Given the description of an element on the screen output the (x, y) to click on. 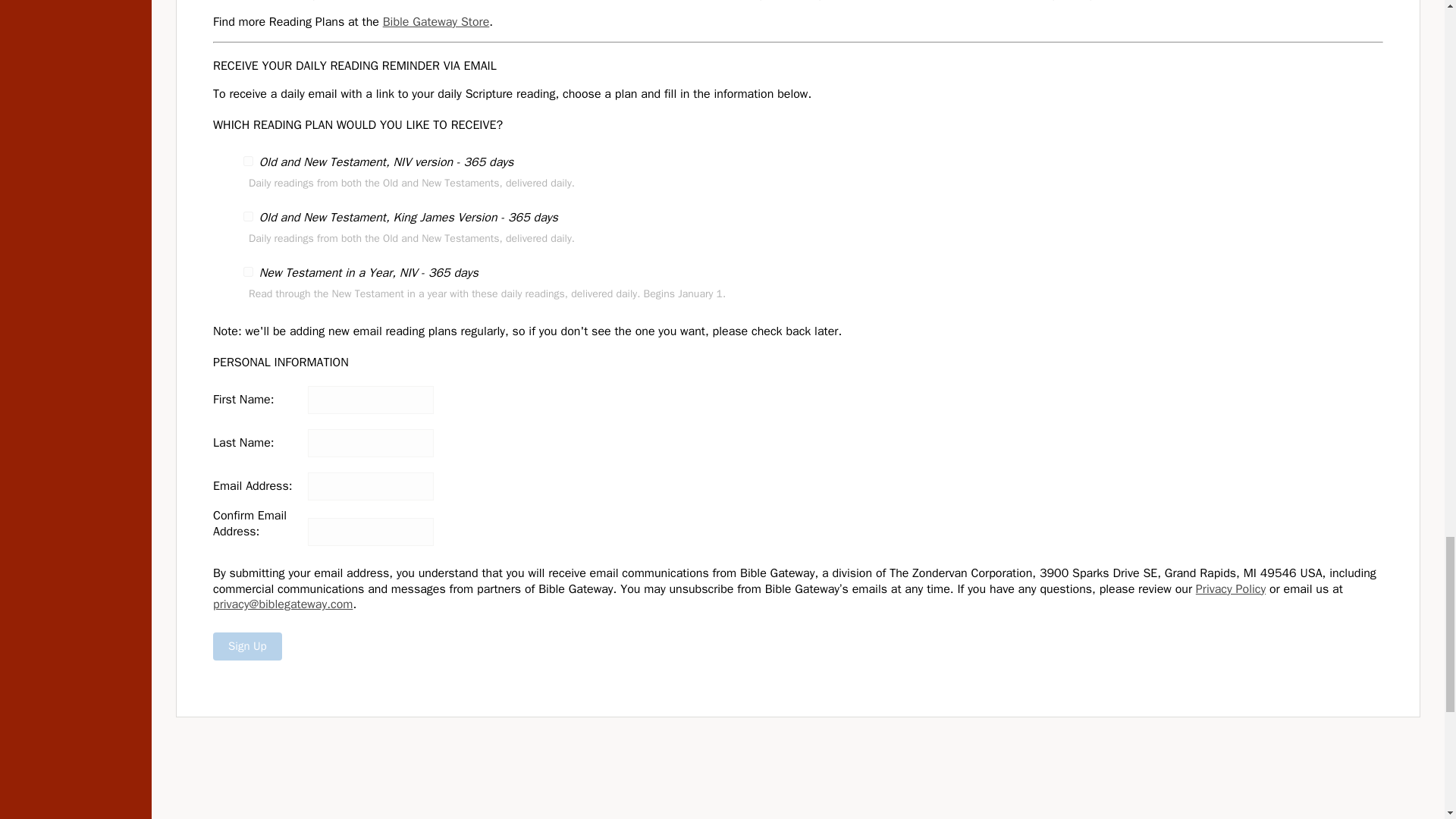
Yes (248, 161)
Yes (248, 271)
Yes (248, 216)
Sign Up (247, 646)
